Given the description of an element on the screen output the (x, y) to click on. 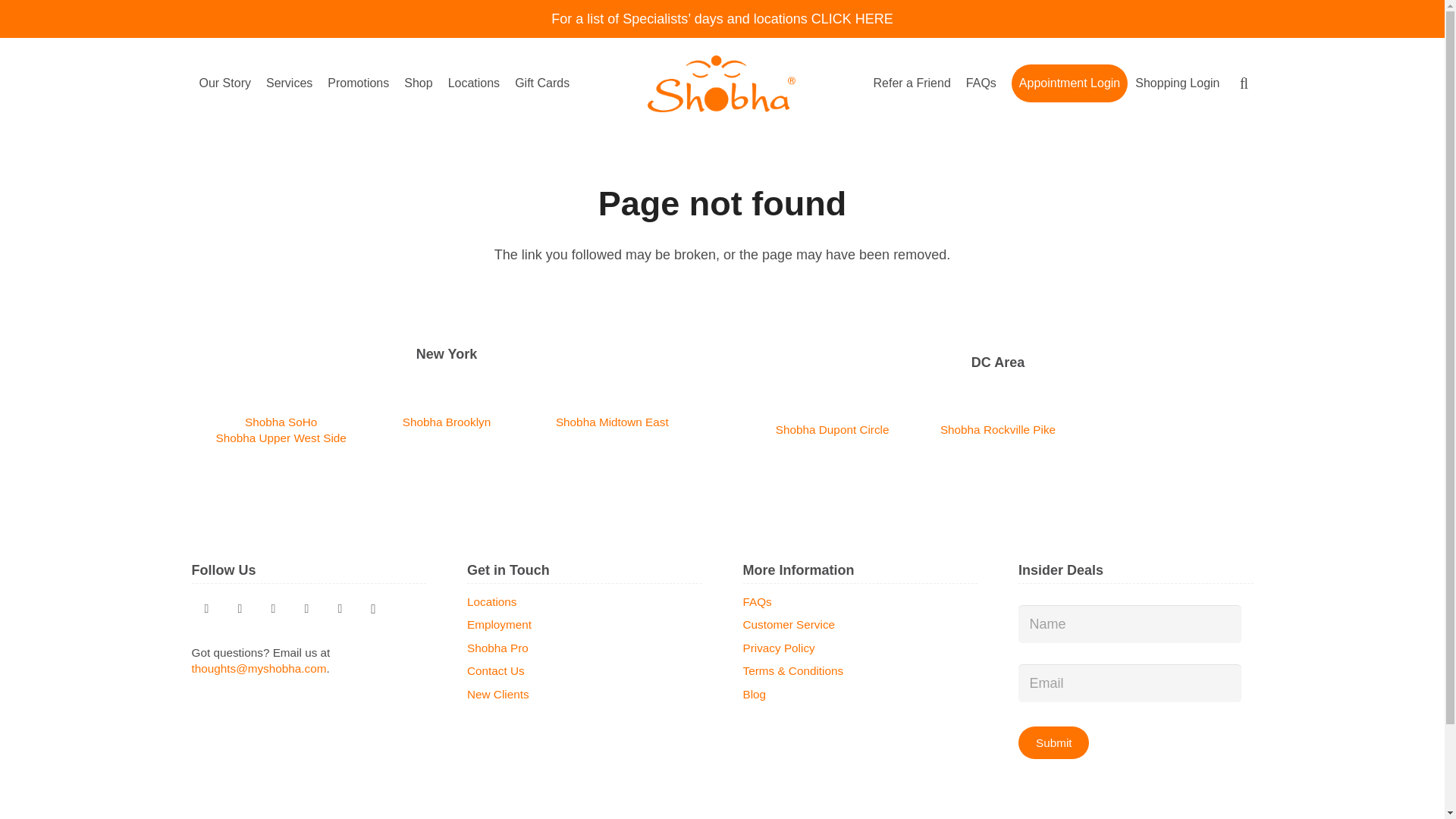
Shop (417, 83)
Blog (272, 608)
Twitter (205, 608)
Submit (1053, 742)
Refer a Friend (912, 83)
Promotions (358, 83)
Locations (474, 83)
Pinterest (239, 608)
Instagram (373, 608)
Services (289, 83)
